Given the description of an element on the screen output the (x, y) to click on. 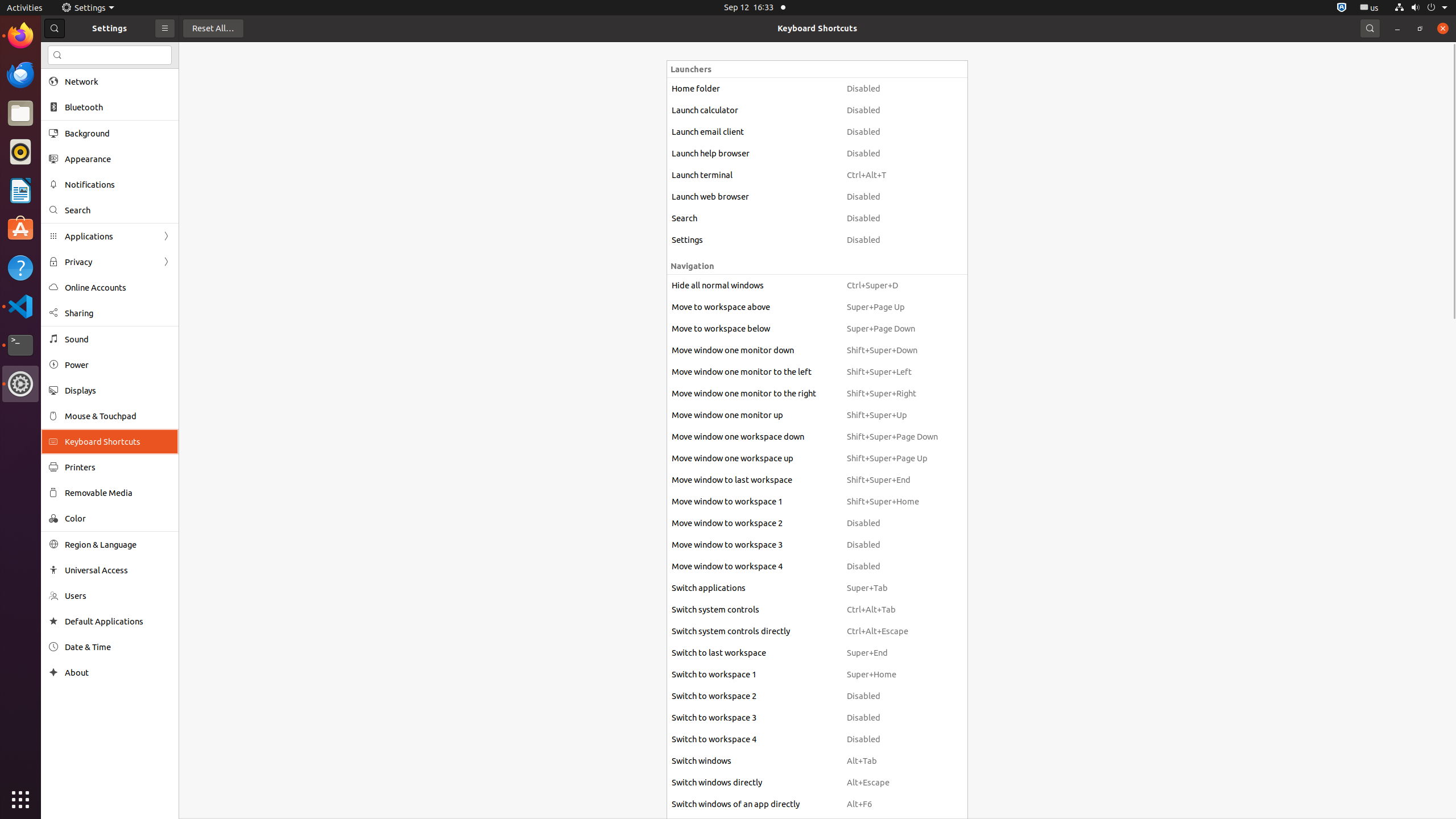
Online Accounts Element type: label (117, 287)
Appearance Element type: label (117, 158)
Switch to workspace 4 Element type: label (753, 738)
Move window one workspace up Element type: label (753, 458)
Shift+Super+Up Element type: label (891, 414)
